Given the description of an element on the screen output the (x, y) to click on. 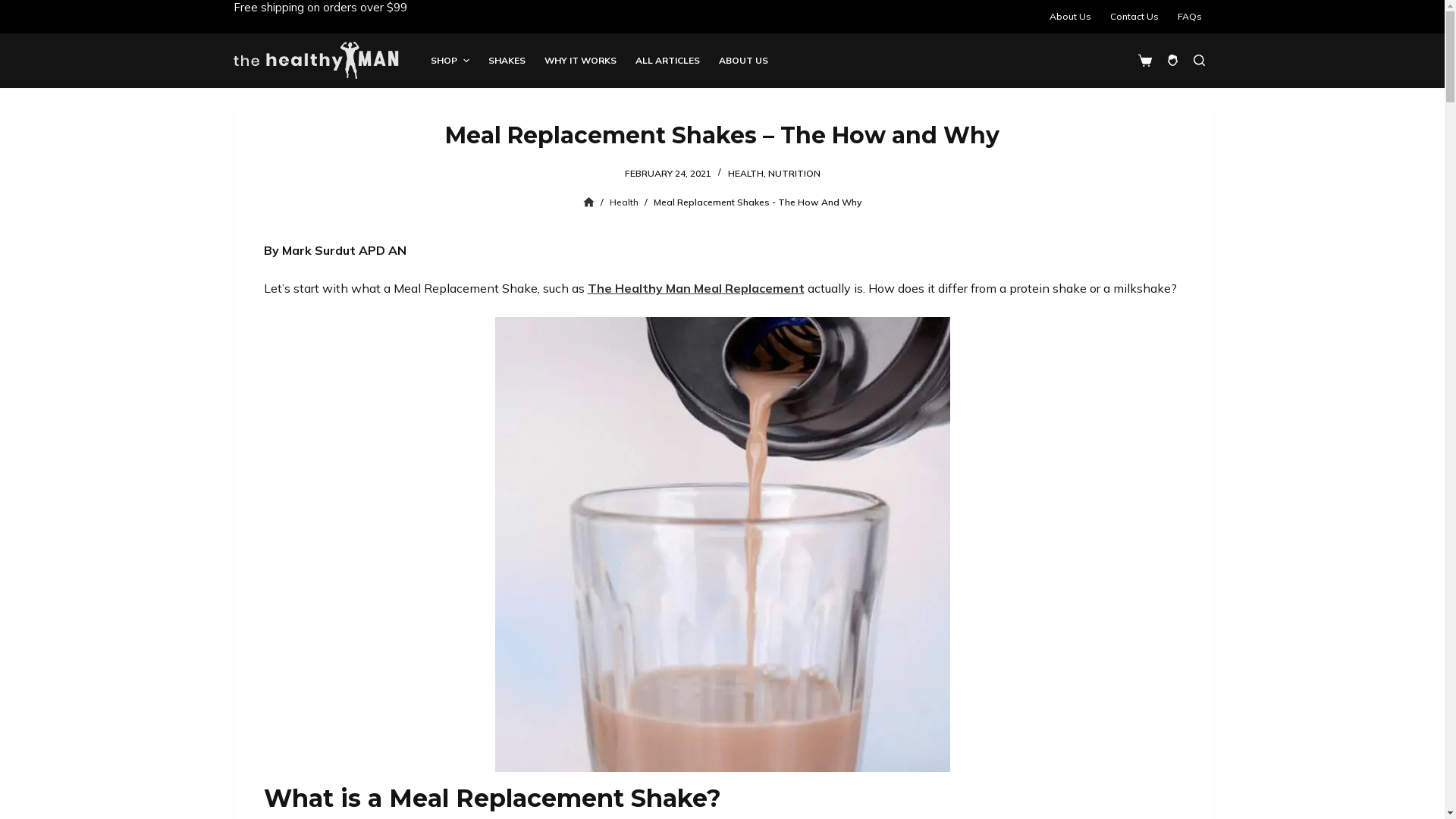
Home Element type: text (588, 202)
ALL ARTICLES Element type: text (667, 59)
Health Element type: text (623, 202)
ABOUT US Element type: text (743, 59)
About Us Element type: text (1070, 16)
NUTRITION Element type: text (793, 172)
FAQs Element type: text (1189, 16)
Contact Us Element type: text (1134, 16)
SHAKES Element type: text (506, 59)
SHOP Element type: text (449, 59)
WHY IT WORKS Element type: text (579, 59)
Skip to content Element type: text (15, 7)
HEALTH Element type: text (745, 172)
The Healthy Man Meal Replacement Element type: text (694, 287)
